Given the description of an element on the screen output the (x, y) to click on. 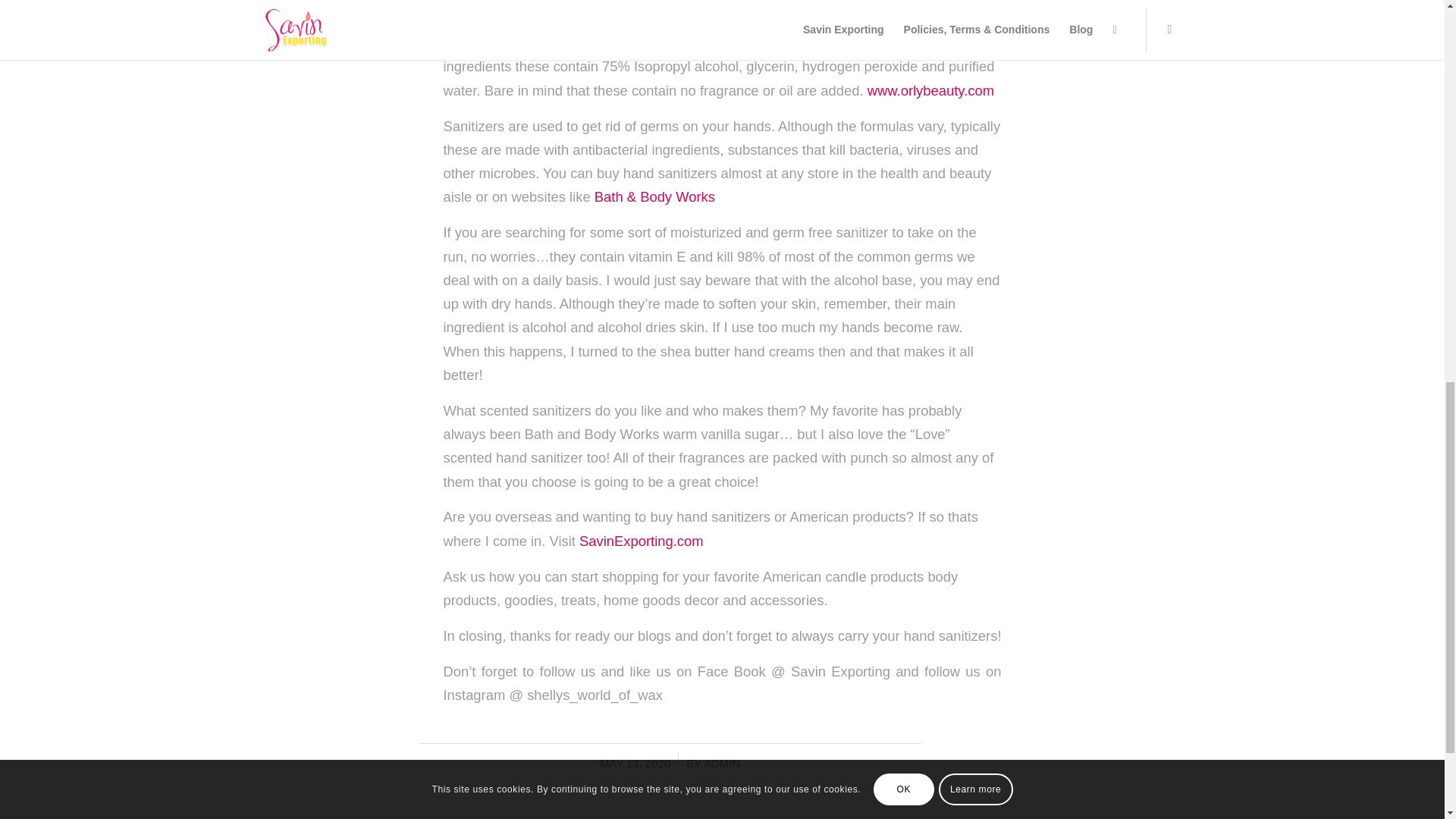
www.orlybeauty.com (930, 90)
ADMIN (721, 763)
SavinExporting.com (641, 540)
Posts by admin (721, 763)
